Given the description of an element on the screen output the (x, y) to click on. 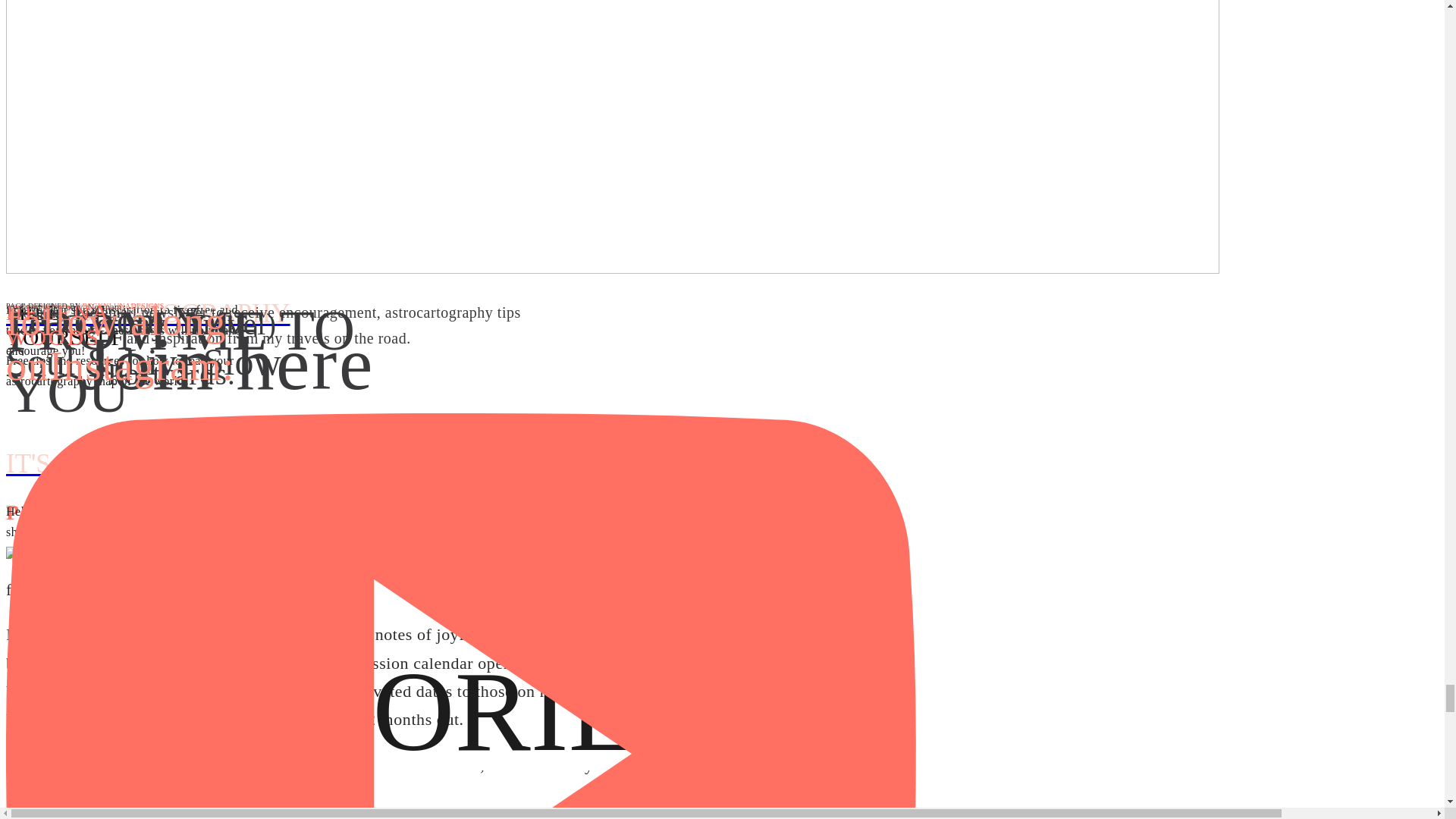
click here. (187, 691)
newsletter (212, 633)
